Given the description of an element on the screen output the (x, y) to click on. 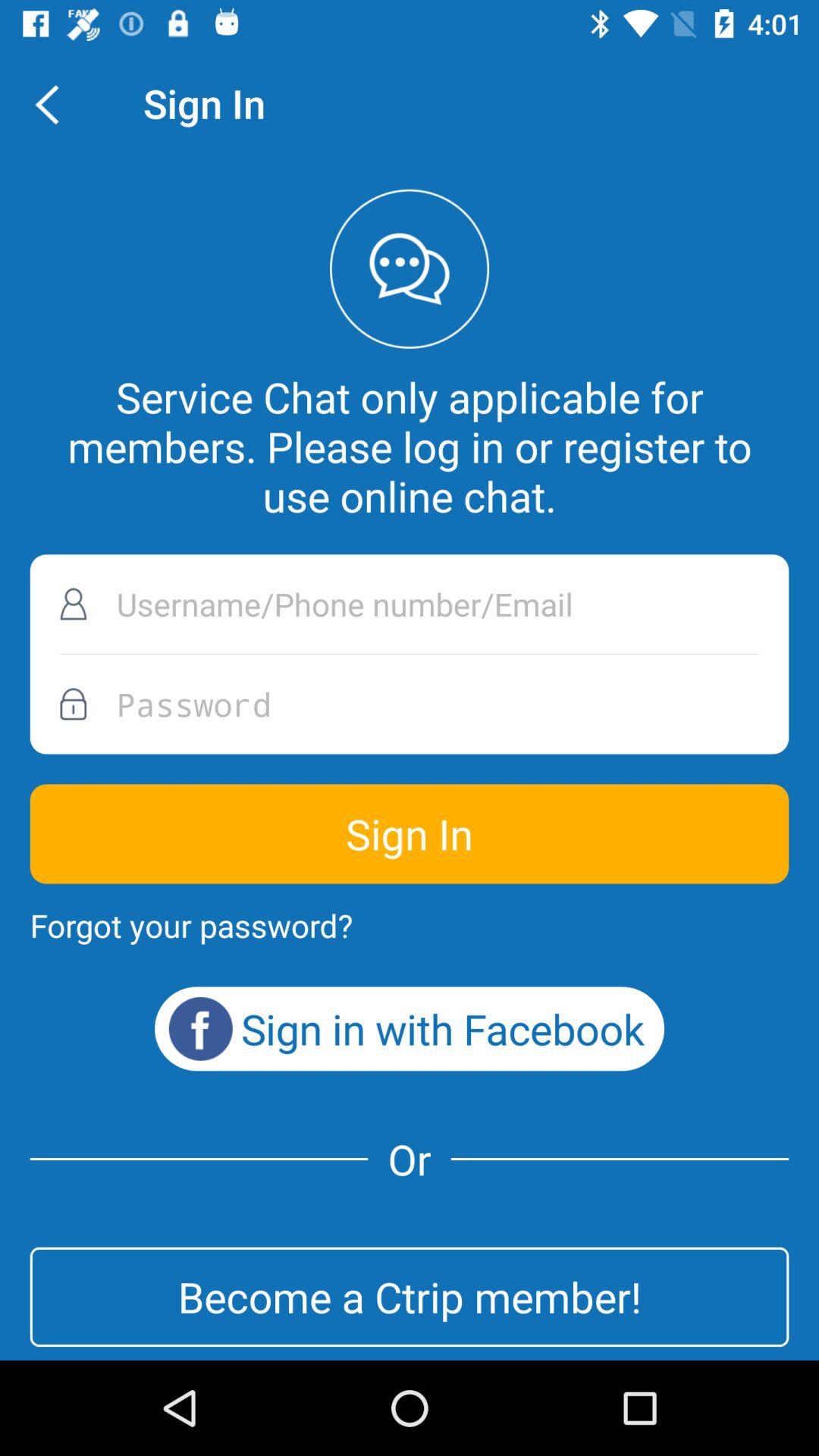
choose the icon above the sign in icon (409, 704)
